Given the description of an element on the screen output the (x, y) to click on. 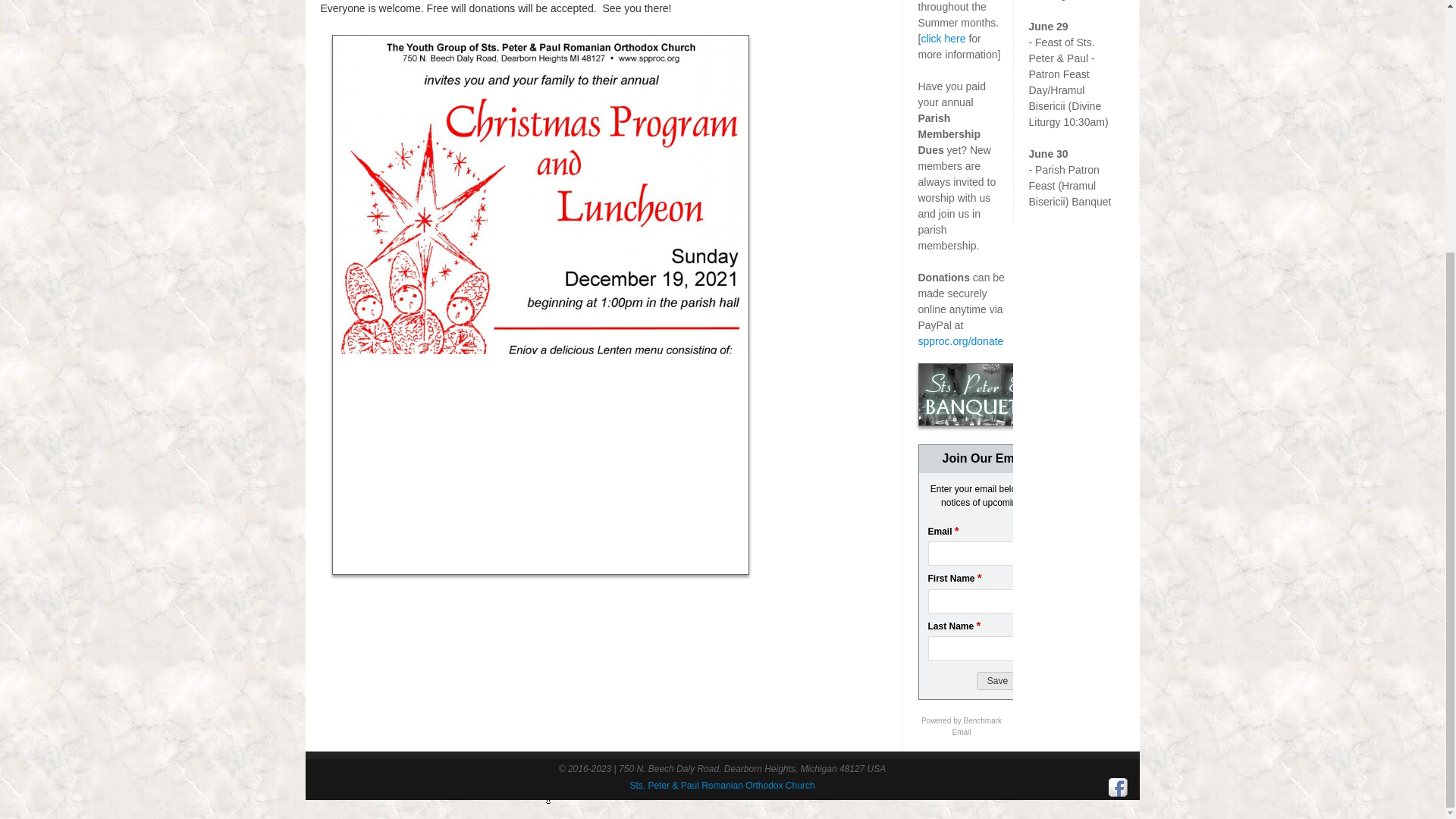
Save (996, 680)
Facebook (1118, 787)
